Given the description of an element on the screen output the (x, y) to click on. 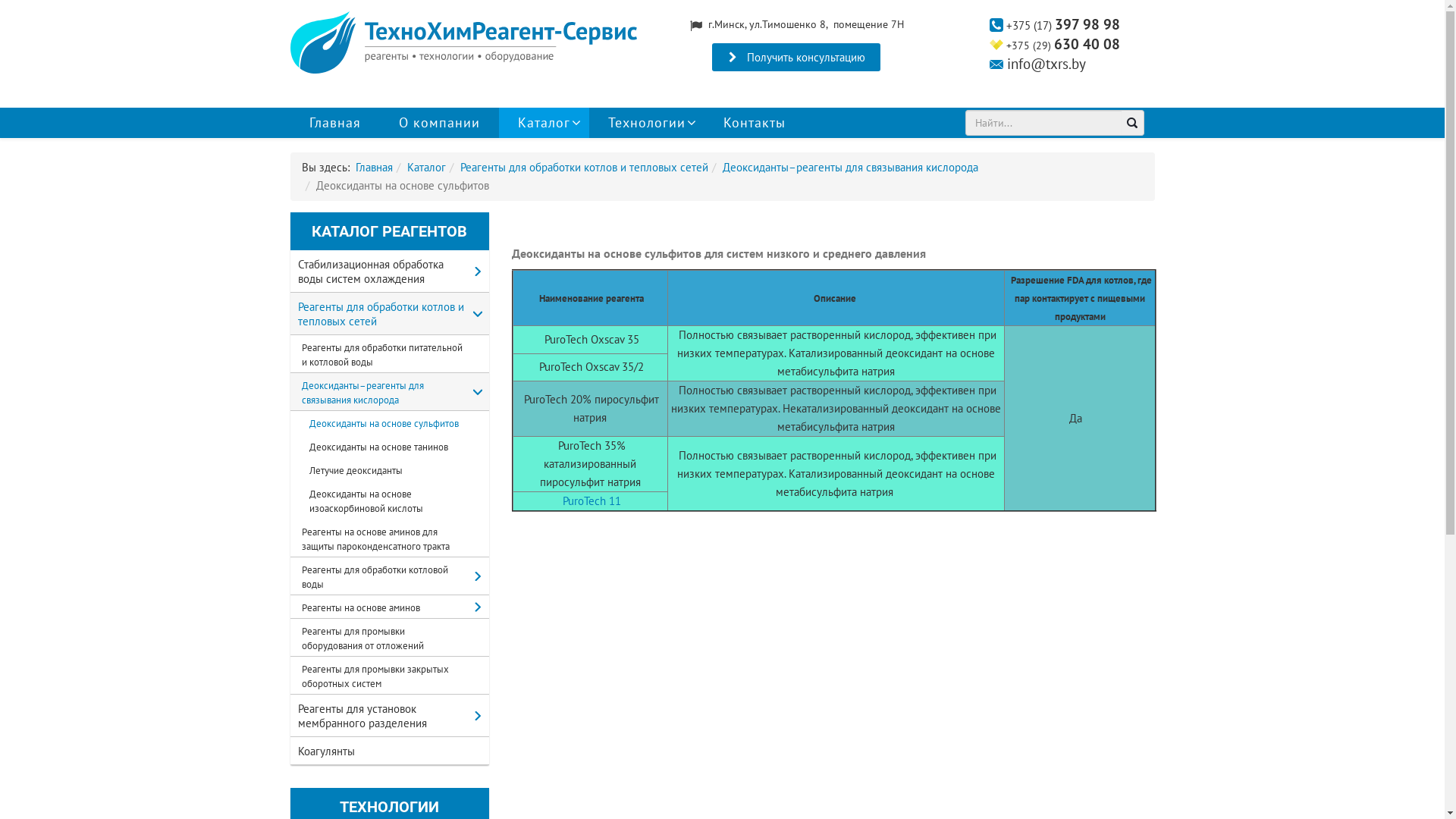
 +375 (17) 397 98 98 Element type: text (1061, 25)
info@txrs.by Element type: text (1046, 63)
 PuroTech 11 Element type: text (590, 500)
+375 (29) 630 40 08 Element type: text (1063, 45)
